Given the description of an element on the screen output the (x, y) to click on. 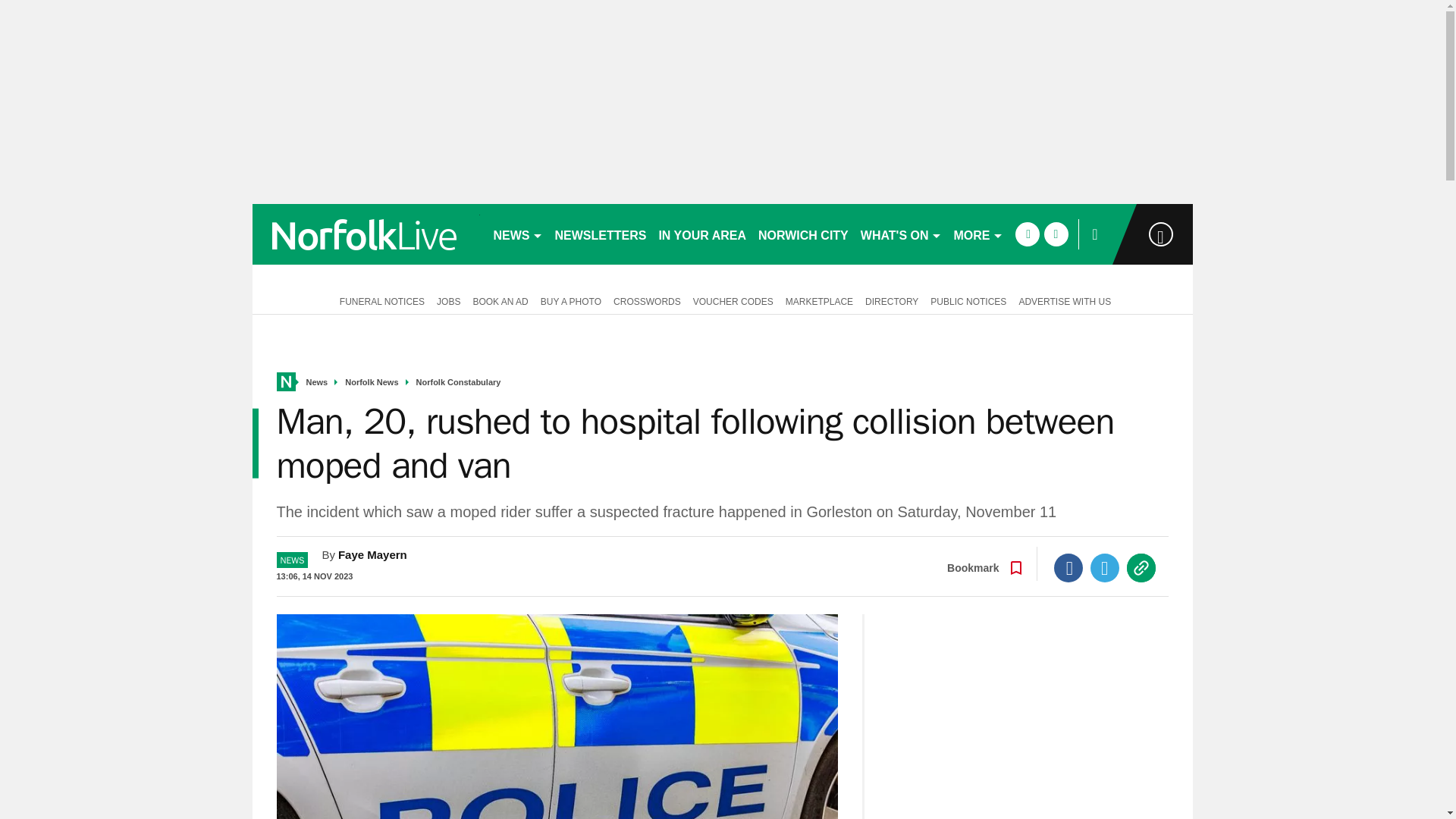
Norfolk Constabulary (458, 382)
Home (285, 381)
News (317, 382)
NEWS (517, 233)
DIRECTORY (891, 300)
PUBLIC NOTICES (967, 300)
JOBS (447, 300)
twitter (1055, 233)
WHAT'S ON (900, 233)
VOUCHER CODES (732, 300)
IN YOUR AREA (702, 233)
MORE (978, 233)
BUY A PHOTO (570, 300)
norfolklive (365, 233)
MARKETPLACE (818, 300)
